Given the description of an element on the screen output the (x, y) to click on. 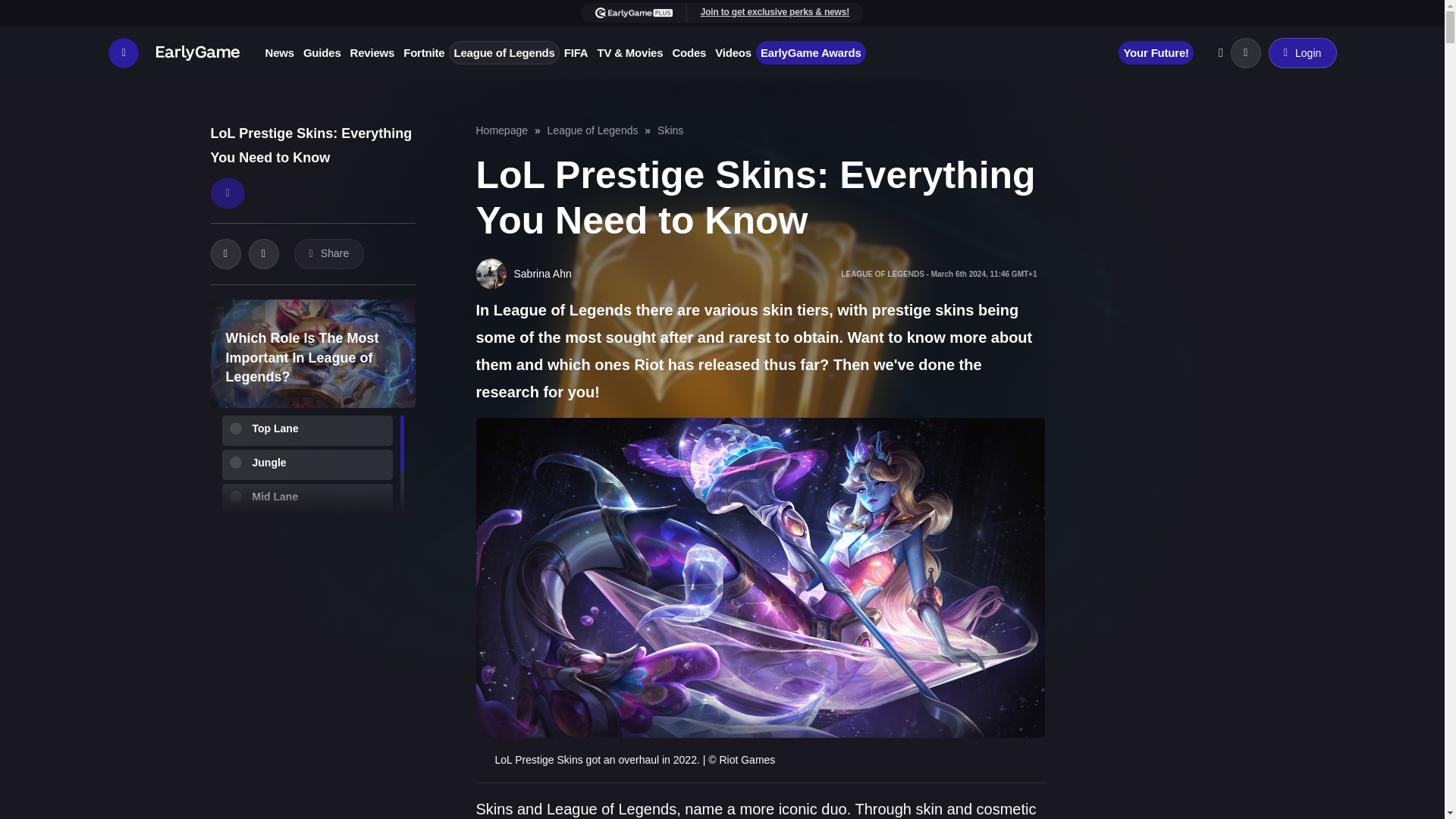
Codes (688, 52)
Guides (322, 52)
League of Legends (503, 52)
FIFA (575, 52)
EarlyGame Awards (810, 52)
FIFA (575, 52)
News (279, 52)
Reviews (372, 52)
Your Future! (1155, 52)
League of Legends (503, 52)
News (279, 52)
Guides (322, 52)
Fortnite (423, 52)
Fortnite (423, 52)
Videos (732, 52)
